Given the description of an element on the screen output the (x, y) to click on. 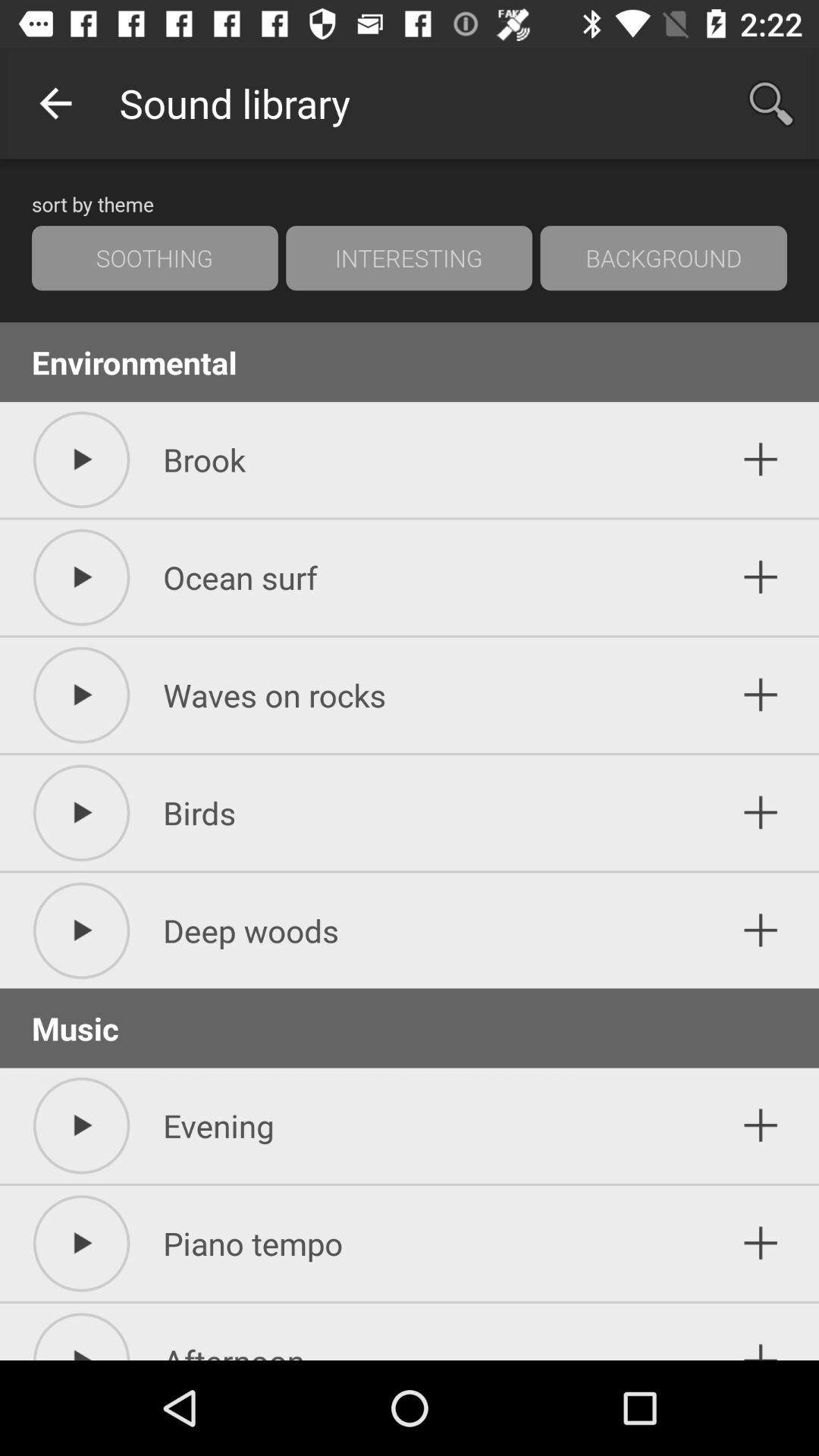
select the item above the environmental item (409, 257)
